Given the description of an element on the screen output the (x, y) to click on. 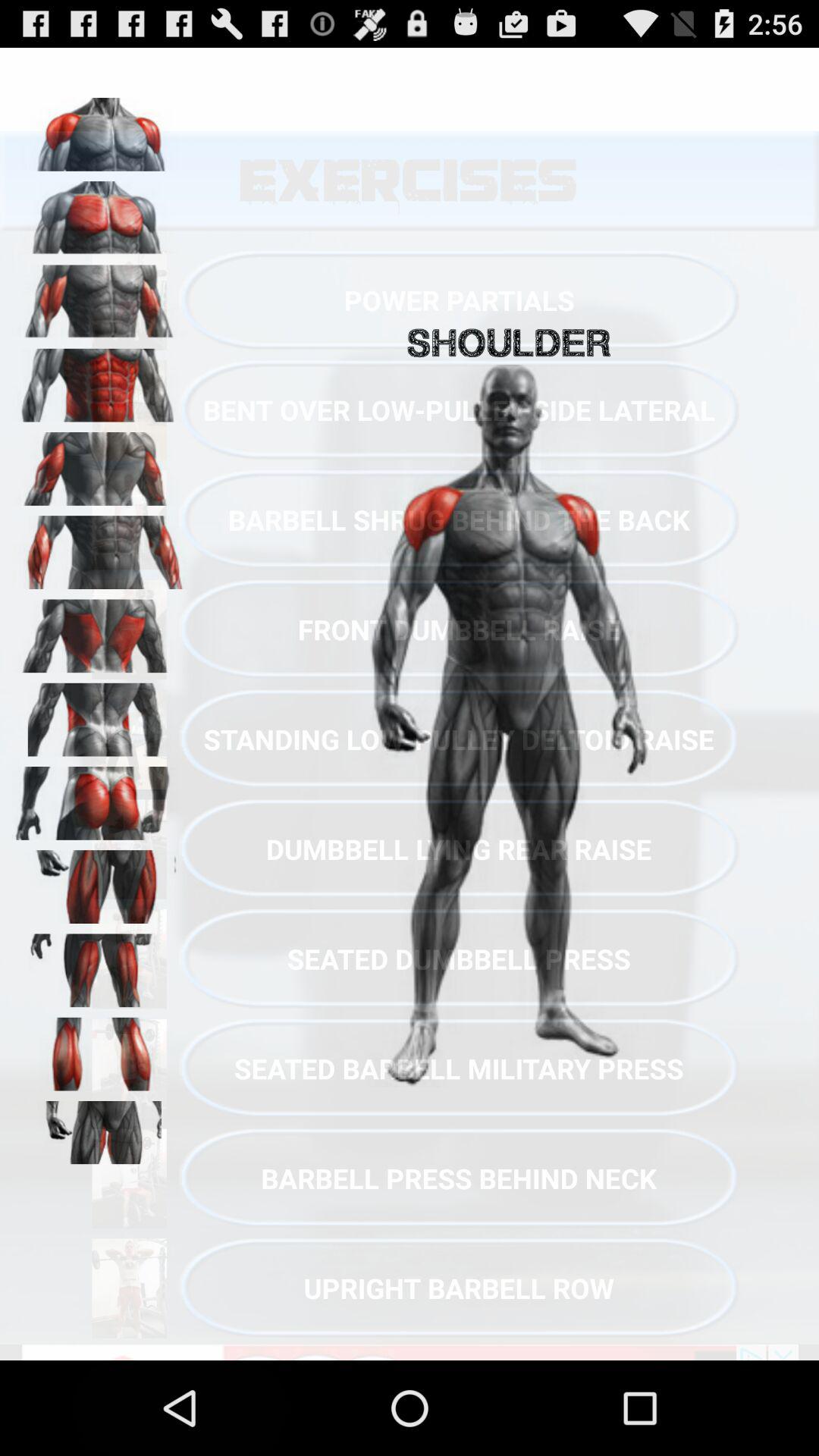
select the fourth option (99, 380)
